Given the description of an element on the screen output the (x, y) to click on. 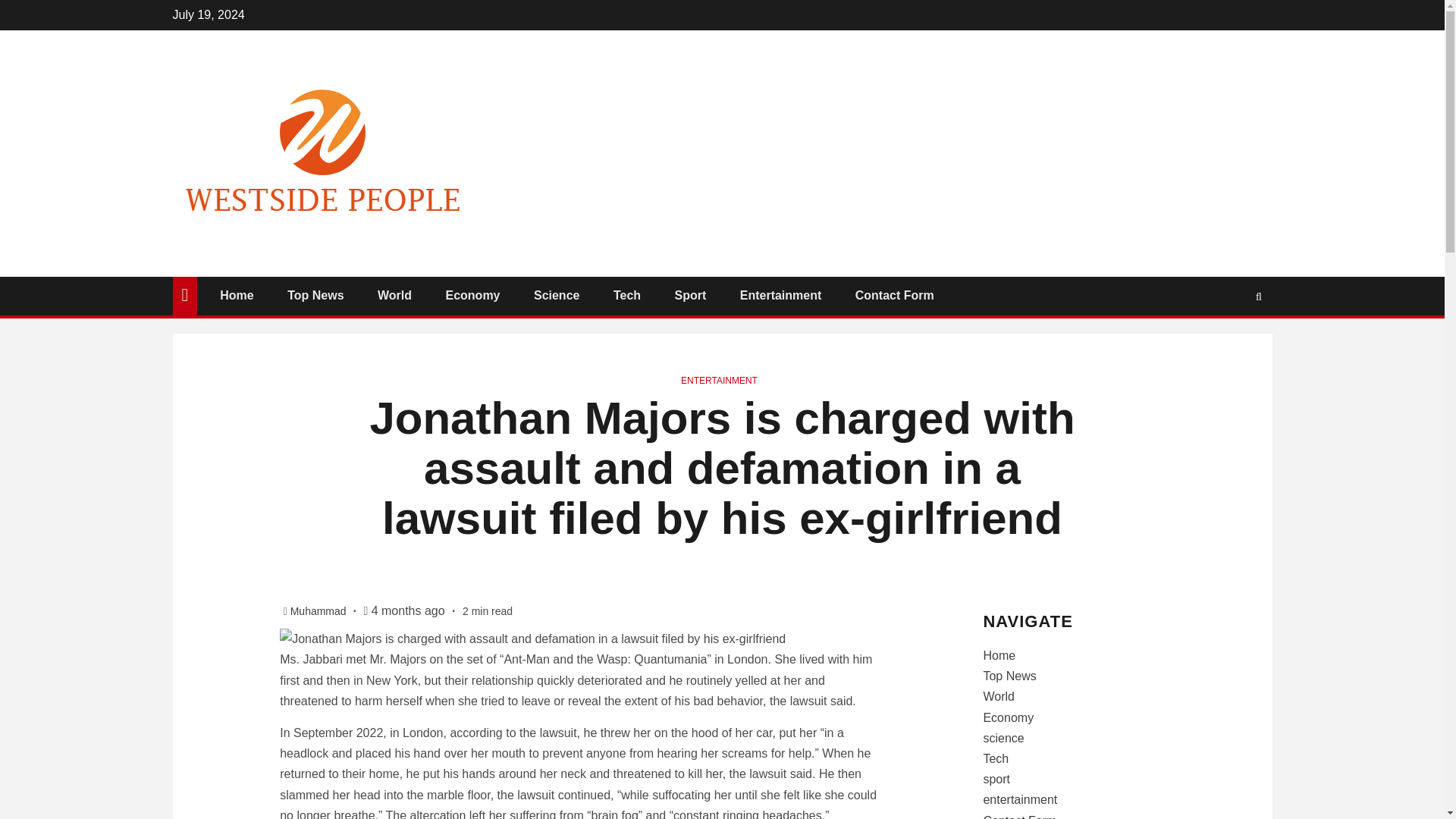
World (998, 696)
Entertainment (780, 295)
Muhammad (319, 611)
Economy (1007, 717)
Search (1229, 341)
World (394, 295)
Contact Form (895, 295)
Economy (472, 295)
Top News (314, 295)
Home (998, 655)
ENTERTAINMENT (719, 380)
Tech (626, 295)
Science (556, 295)
Home (236, 295)
